Given the description of an element on the screen output the (x, y) to click on. 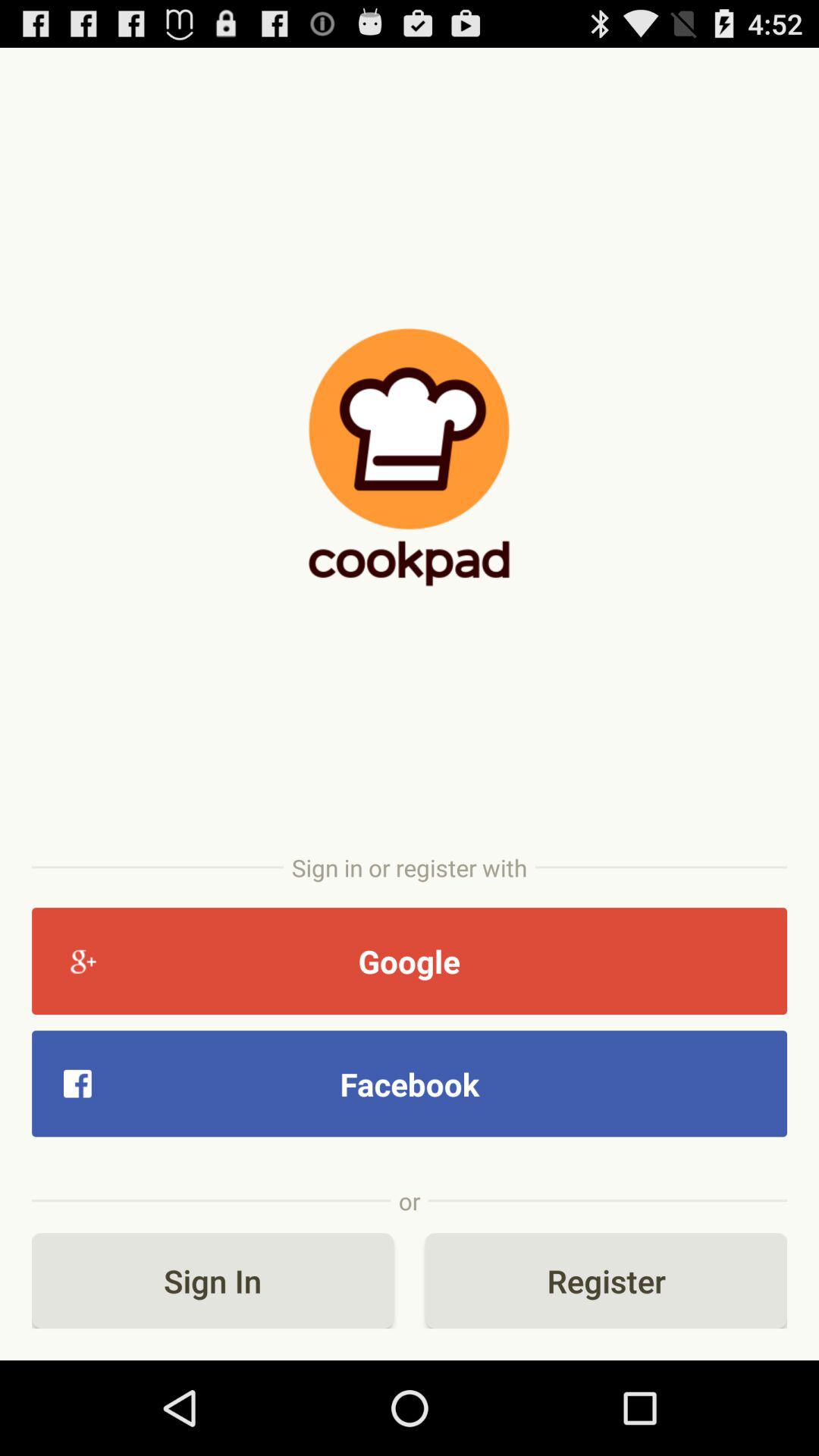
press the icon above or icon (409, 1083)
